Given the description of an element on the screen output the (x, y) to click on. 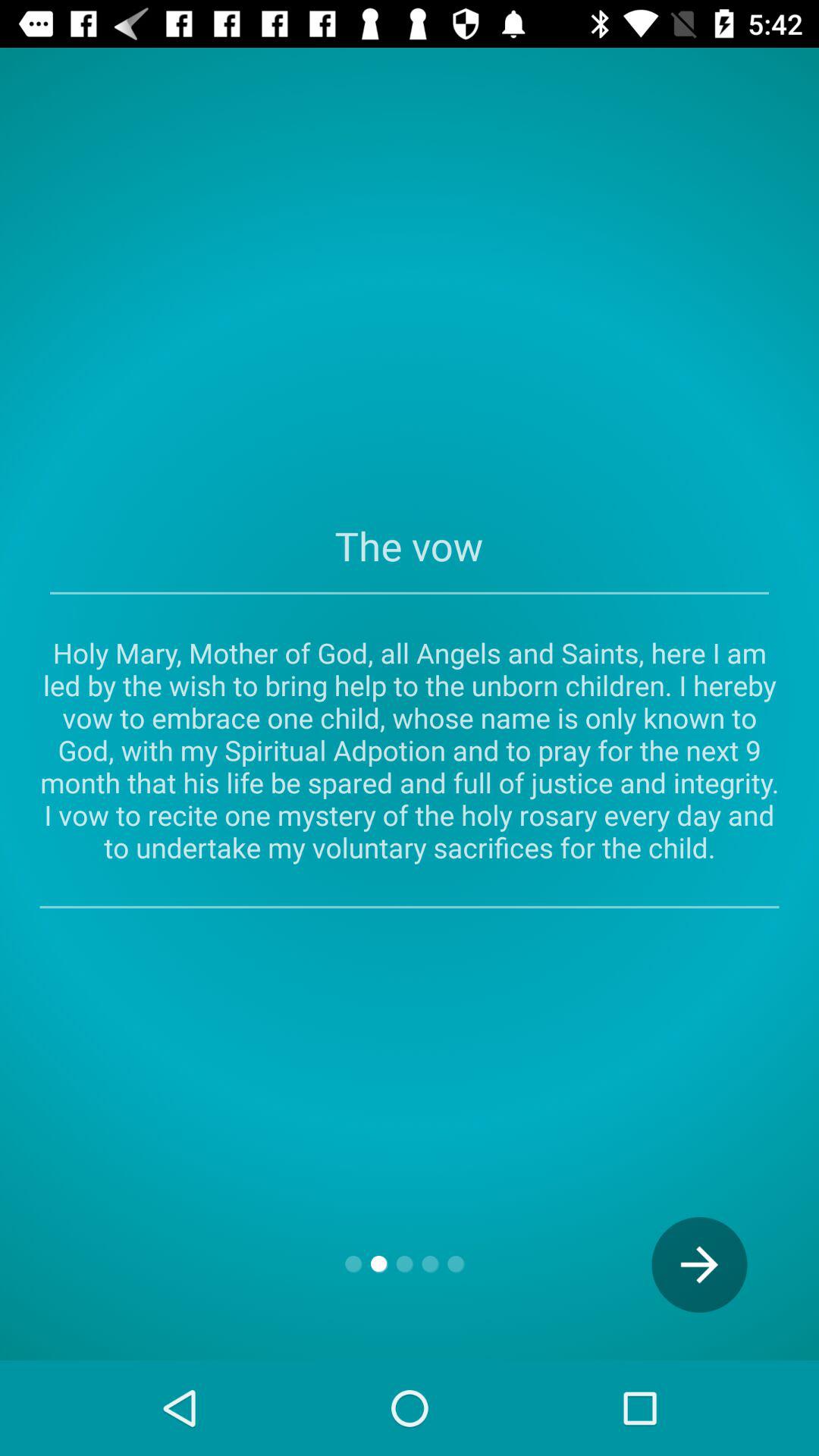
next screen (699, 1264)
